Given the description of an element on the screen output the (x, y) to click on. 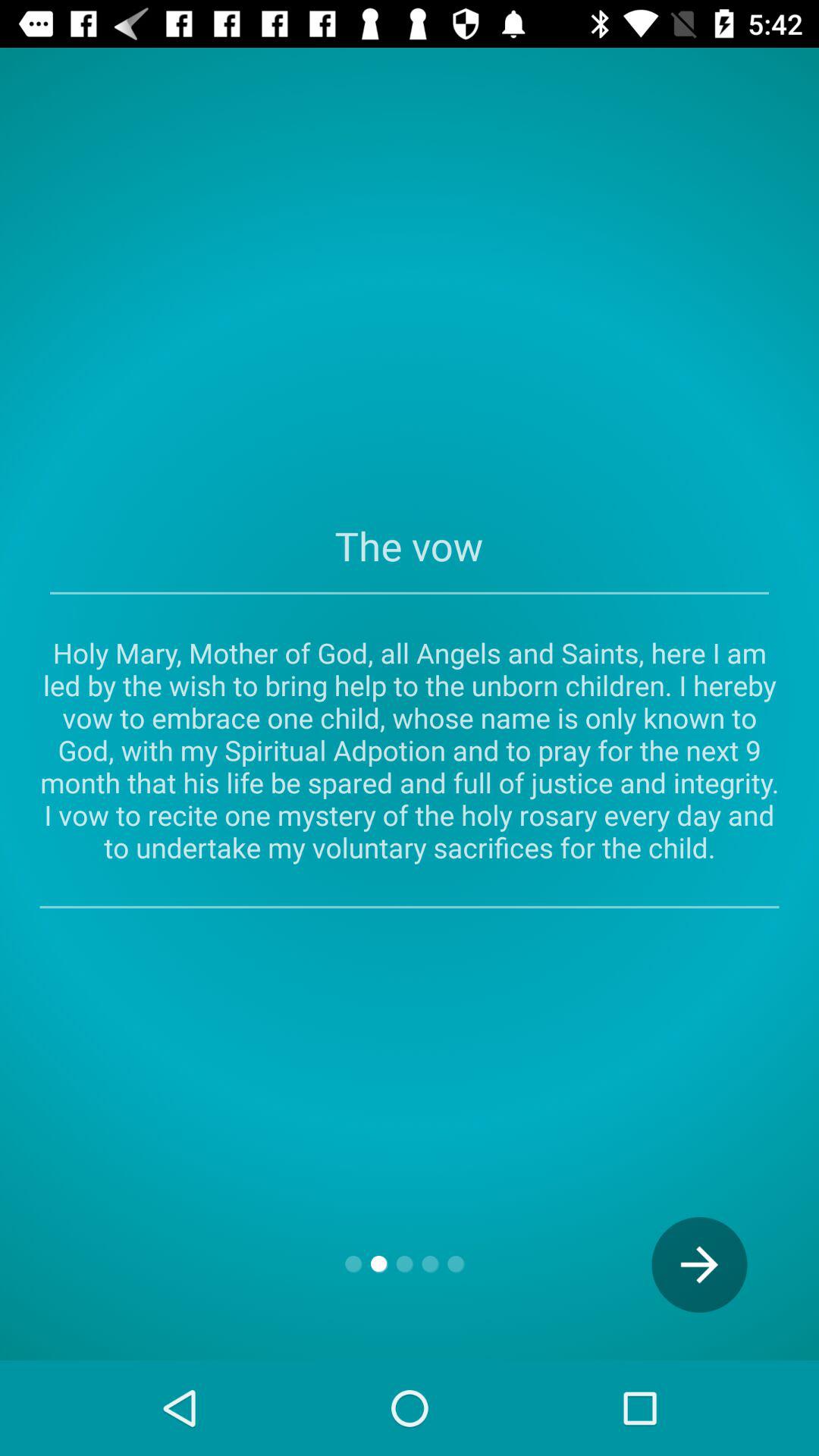
next screen (699, 1264)
